Given the description of an element on the screen output the (x, y) to click on. 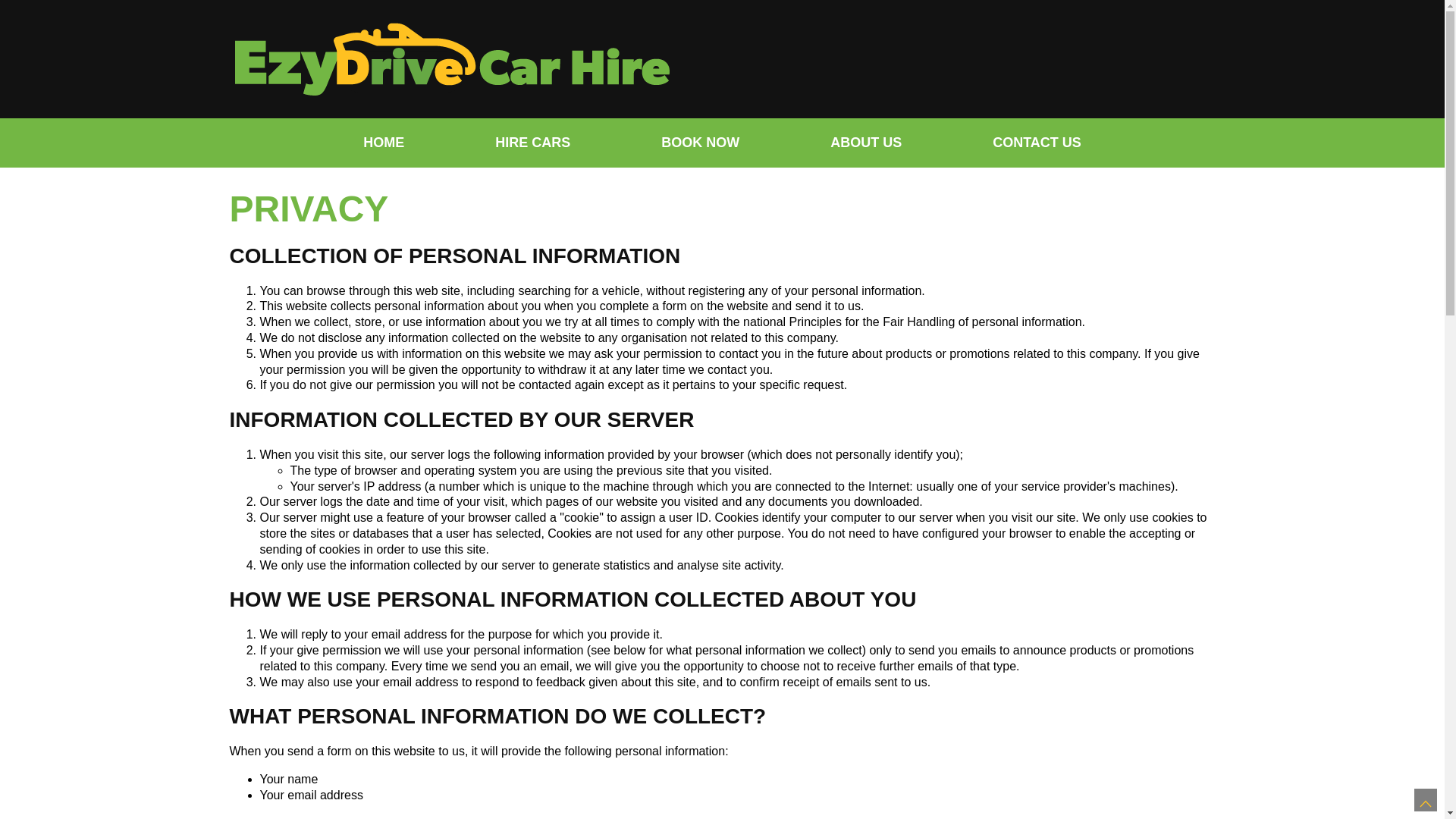
ABOUT US Element type: text (865, 142)
HOME Element type: text (383, 142)
BOOK NOW Element type: text (699, 142)
HIRE CARS Element type: text (532, 142)
CONTACT US Element type: text (1036, 142)
